Given the description of an element on the screen output the (x, y) to click on. 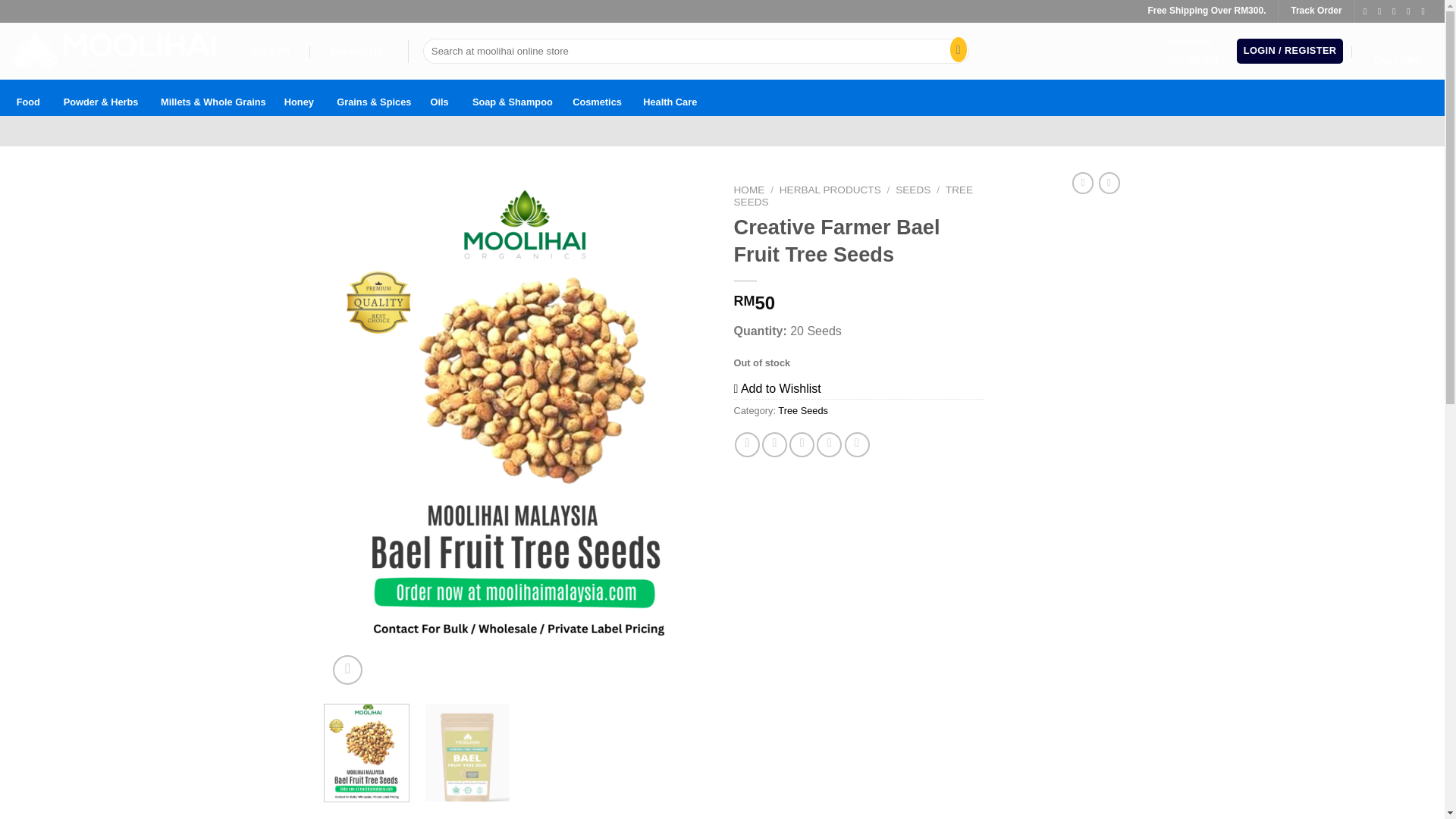
Share on Facebook (747, 444)
Health Care (670, 97)
Search (955, 51)
SEEDS (912, 189)
TREE SEEDS (853, 196)
HERBAL PRODUCTS (829, 189)
Contact Us (356, 51)
Shop All (269, 51)
Zoom (347, 669)
Cosmetics (596, 97)
